Given the description of an element on the screen output the (x, y) to click on. 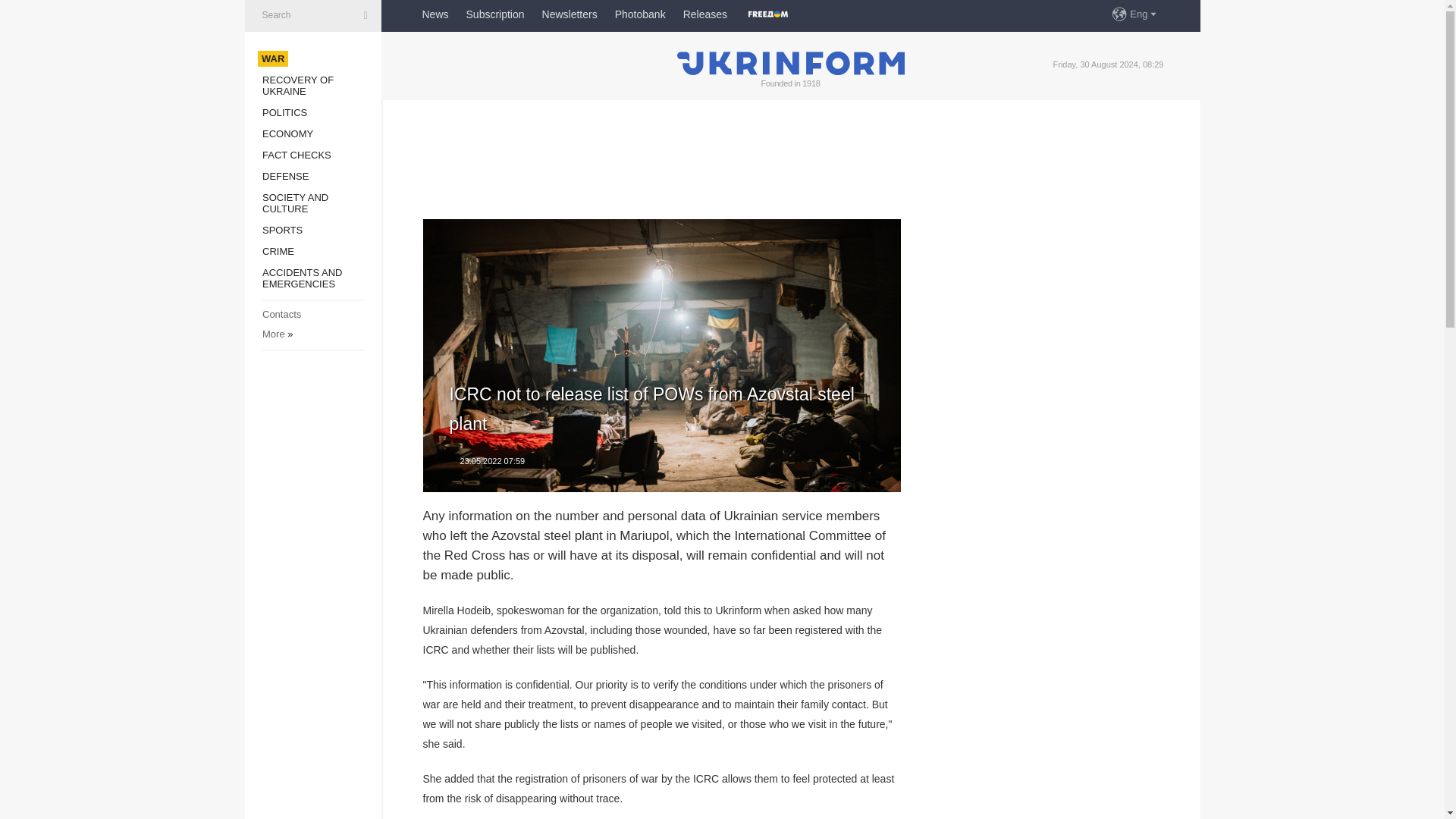
SPORTS (282, 229)
Eng (1143, 14)
Releases (704, 14)
ECONOMY (287, 133)
SOCIETY AND CULTURE (295, 202)
Newsletters (568, 14)
DEFENSE (285, 175)
POLITICS (284, 112)
News (435, 14)
Photobank (639, 14)
